Given the description of an element on the screen output the (x, y) to click on. 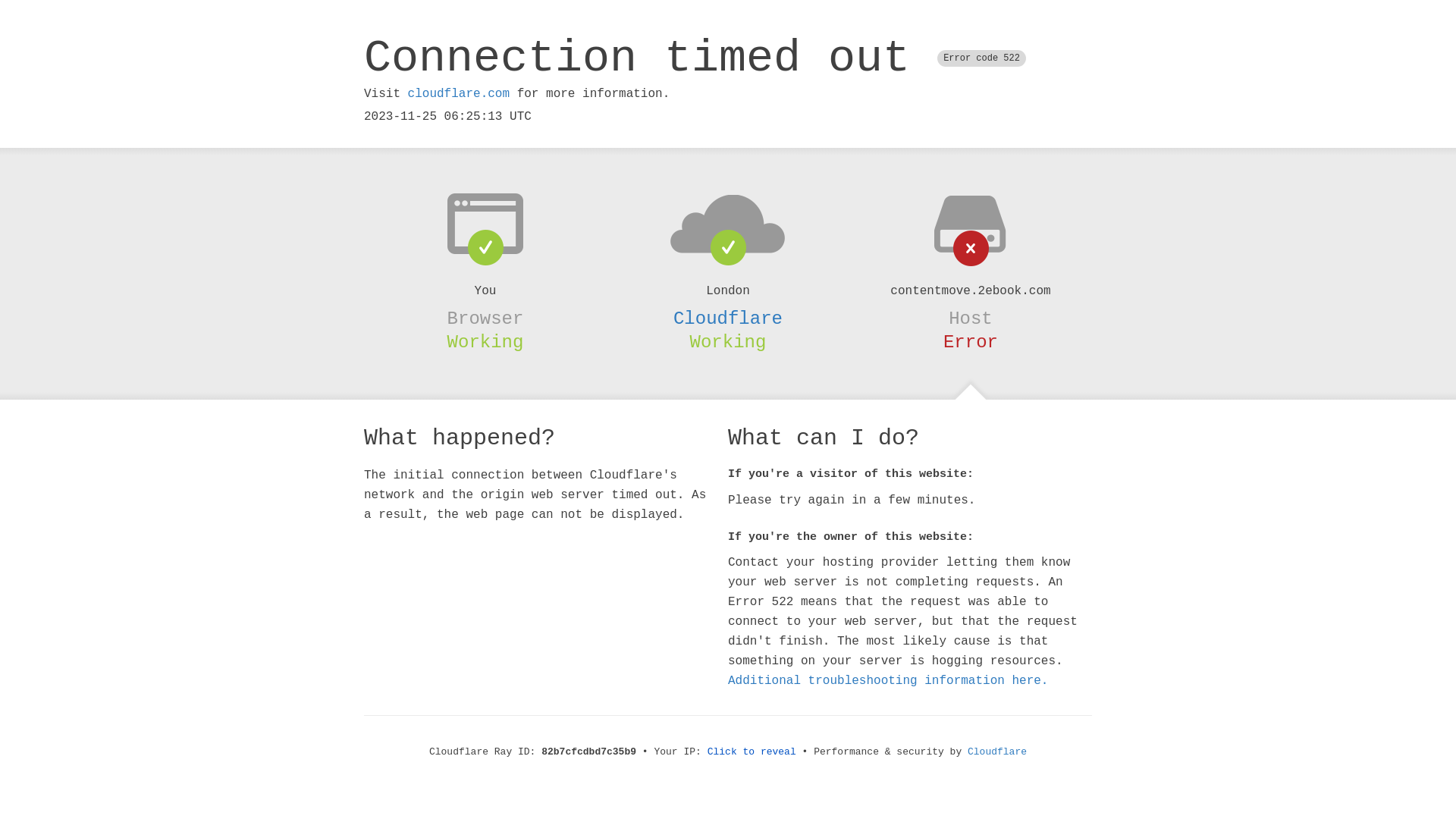
Additional troubleshooting information here. Element type: text (888, 680)
Click to reveal Element type: text (751, 751)
cloudflare.com Element type: text (458, 93)
Cloudflare Element type: text (727, 318)
Cloudflare Element type: text (996, 751)
